Given the description of an element on the screen output the (x, y) to click on. 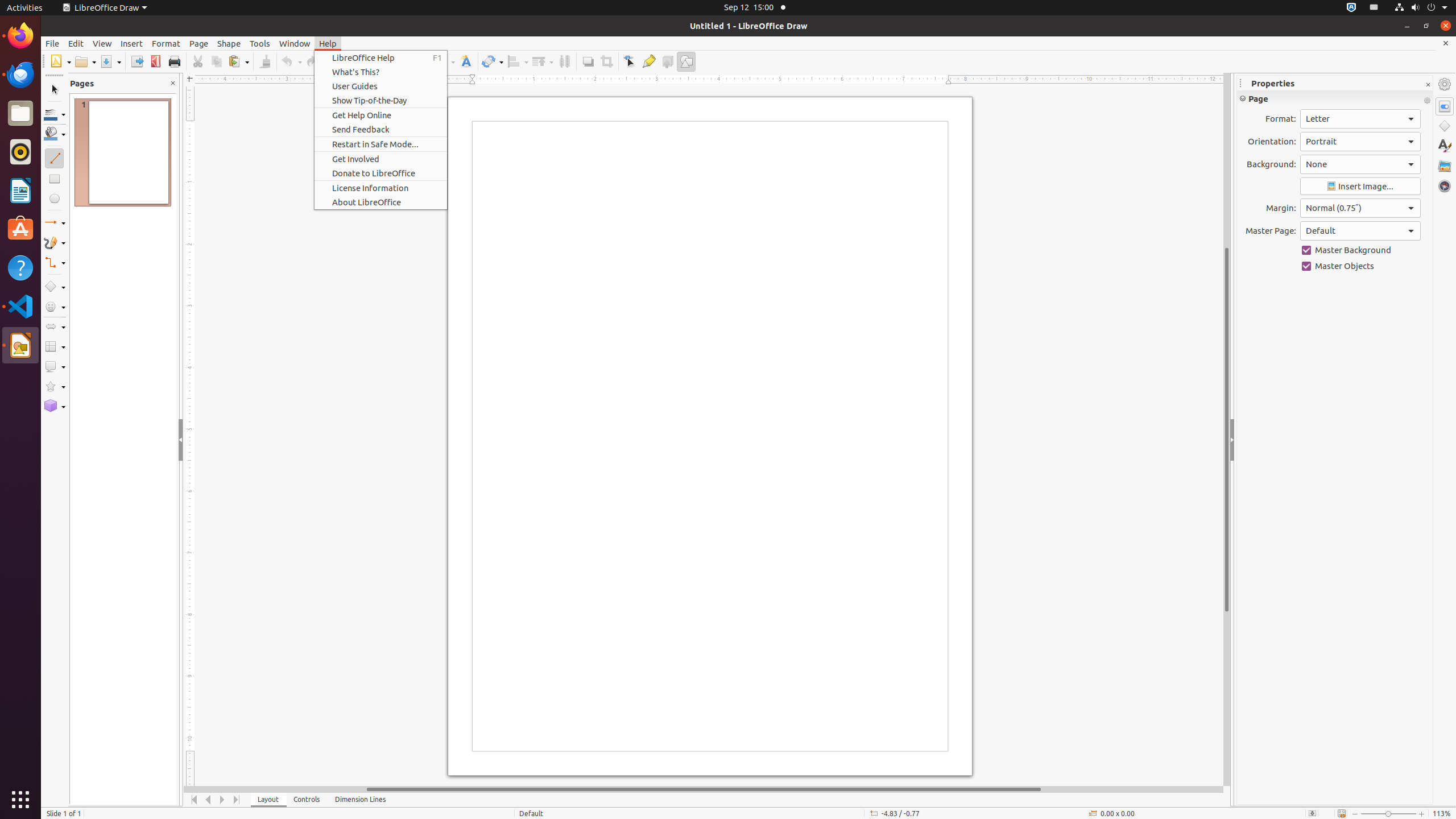
Restart in Safe Mode... Element type: menu-item (380, 144)
What's This? Element type: menu-item (380, 71)
Format Element type: menu (165, 43)
Ubuntu Software Element type: push-button (20, 229)
Margin: Element type: combo-box (1360, 207)
